Given the description of an element on the screen output the (x, y) to click on. 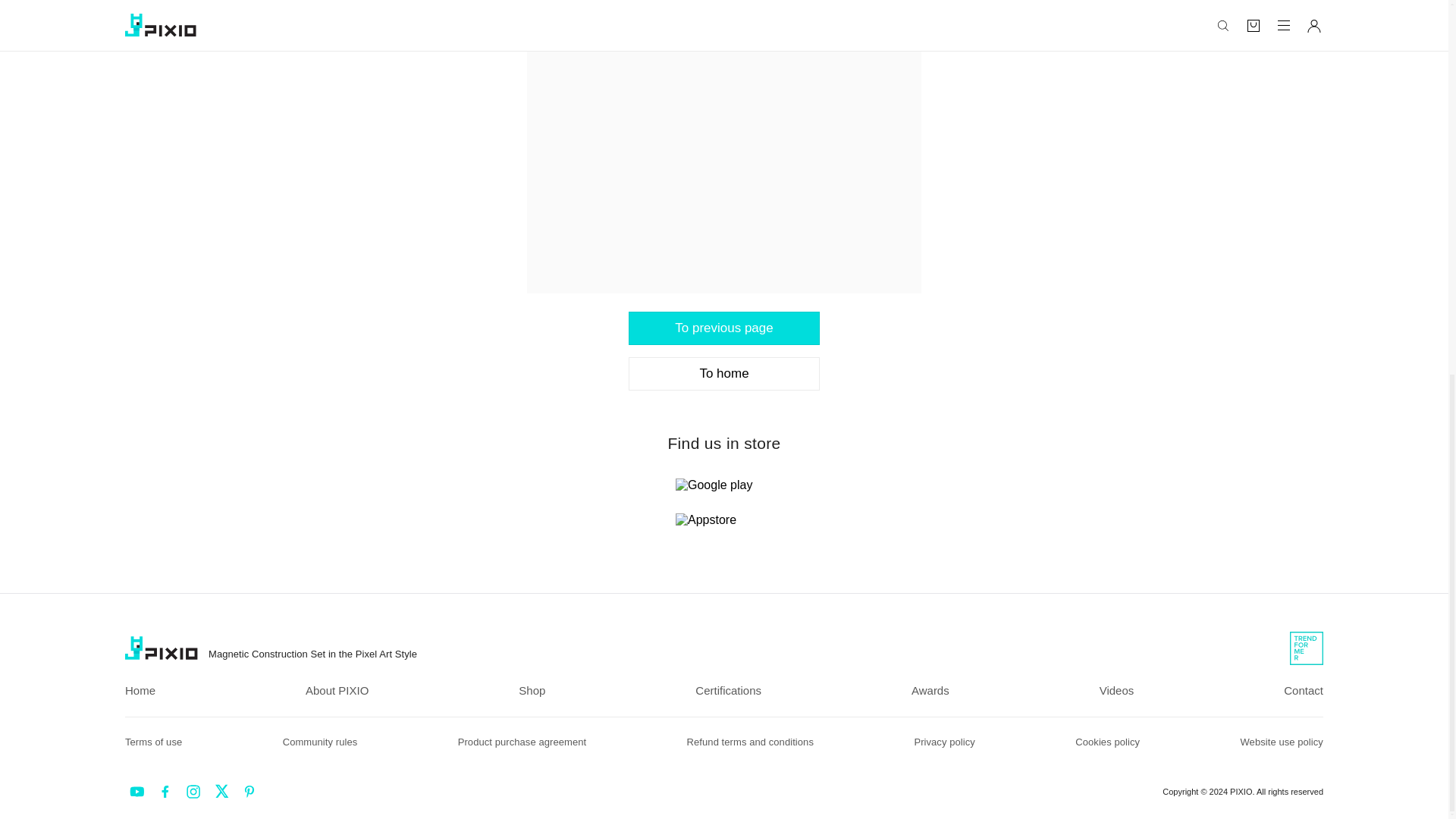
Website use policy (1281, 742)
Certifications (728, 690)
Shop (531, 690)
Product purchase agreement (522, 742)
Community rules (320, 742)
Awards (930, 690)
To previous page (723, 328)
Refund terms and conditions (750, 742)
Contact (1303, 690)
Videos (1116, 690)
Privacy policy (944, 742)
To home (723, 373)
Home (140, 690)
Cookies policy (1107, 742)
Terms of use (153, 742)
